Given the description of an element on the screen output the (x, y) to click on. 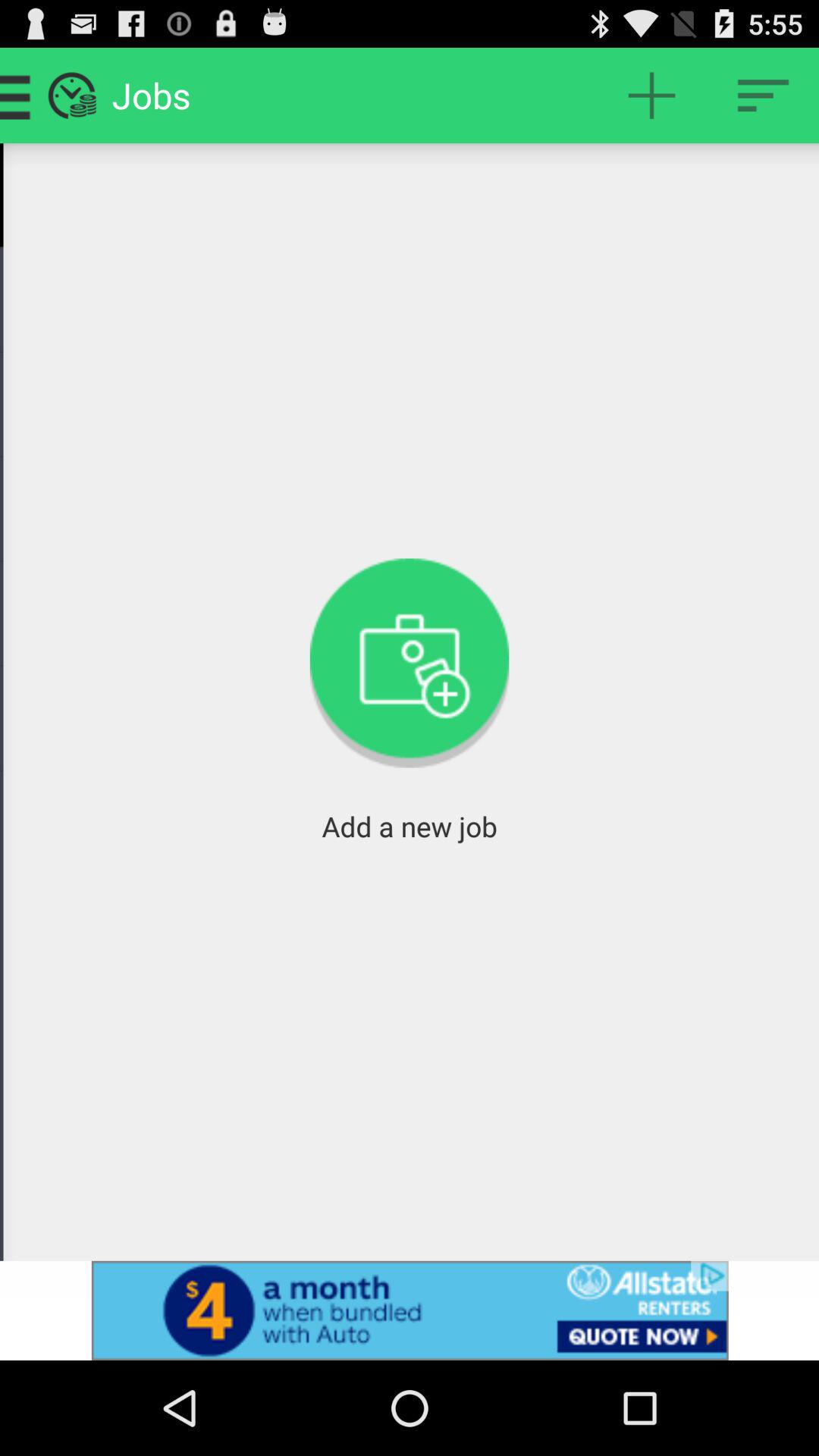
advertisement botton (409, 1310)
